Given the description of an element on the screen output the (x, y) to click on. 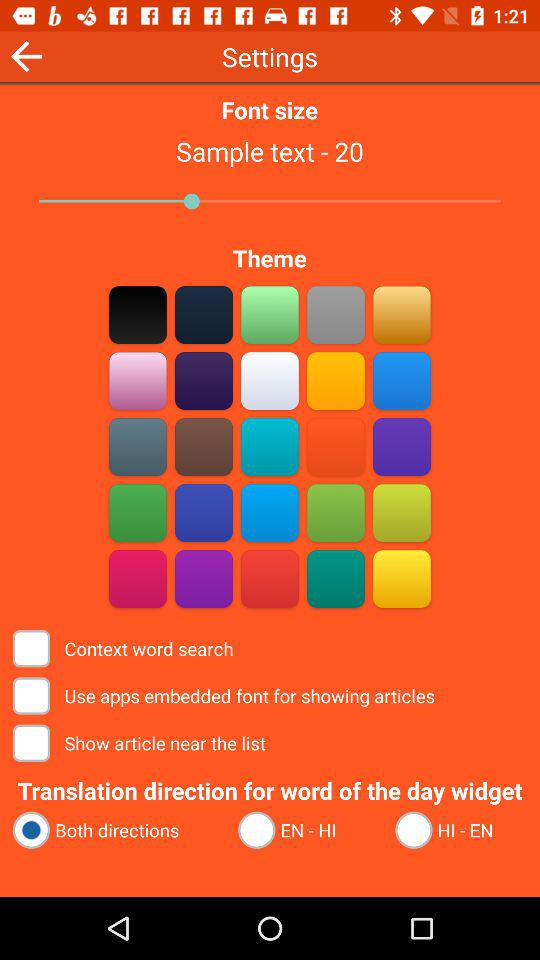
select theme color (137, 446)
